Given the description of an element on the screen output the (x, y) to click on. 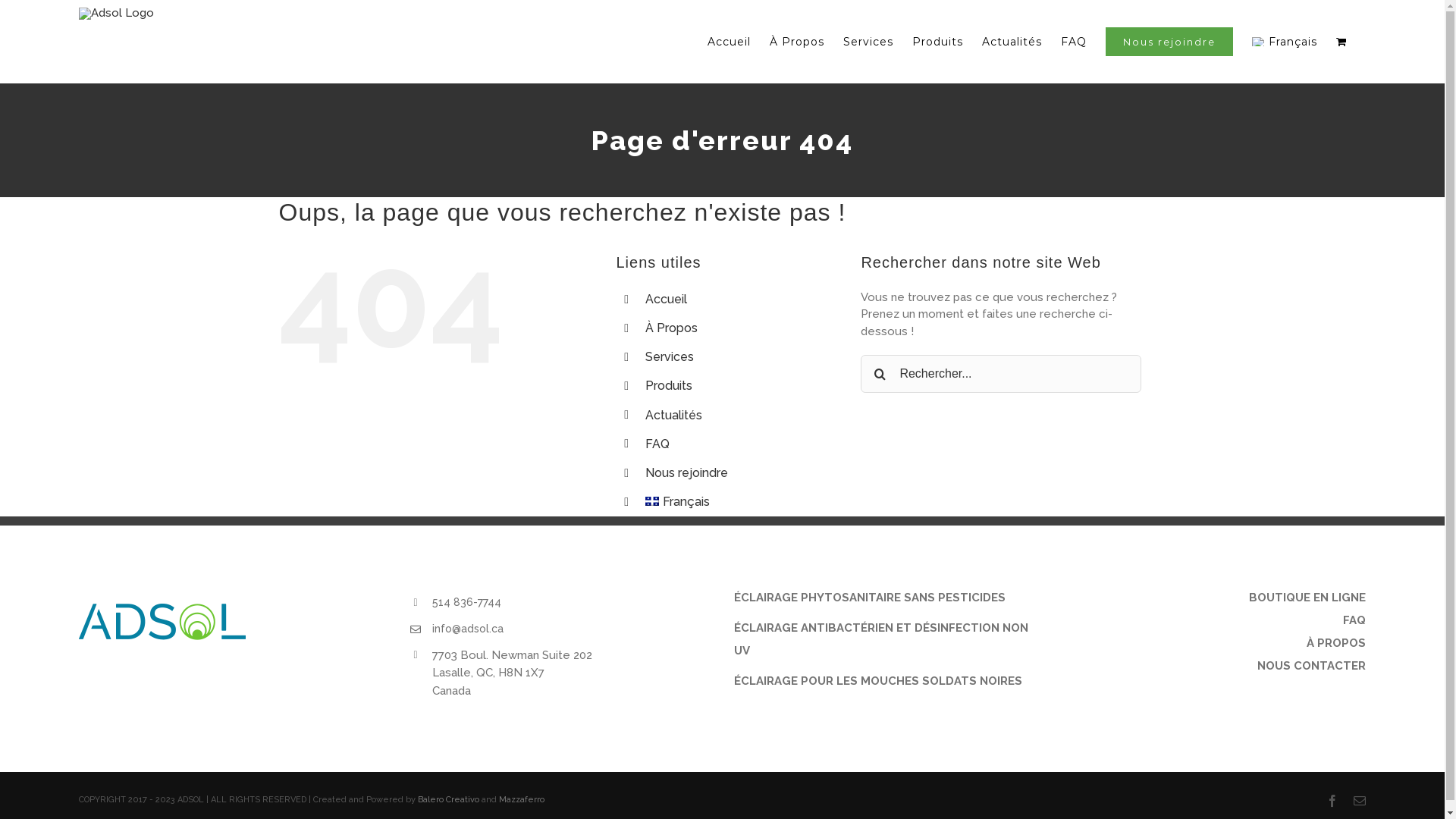
Mazzaferro Element type: text (521, 799)
Accueil Element type: text (728, 41)
Services Element type: text (669, 356)
info@adsol.ca Element type: text (571, 629)
FAQ Element type: text (657, 443)
BOUTIQUE EN LIGNE Element type: text (1213, 597)
Balero Creativo Element type: text (448, 799)
Facebook Element type: text (1332, 800)
Services Element type: text (868, 41)
FAQ Element type: text (1073, 41)
Nous rejoindre Element type: text (686, 472)
Email Element type: text (1359, 800)
Produits Element type: text (668, 385)
NOUS CONTACTER Element type: text (1213, 665)
Nous rejoindre Element type: text (1169, 41)
Accueil Element type: text (666, 298)
FAQ Element type: text (1213, 619)
Produits Element type: text (937, 41)
